Given the description of an element on the screen output the (x, y) to click on. 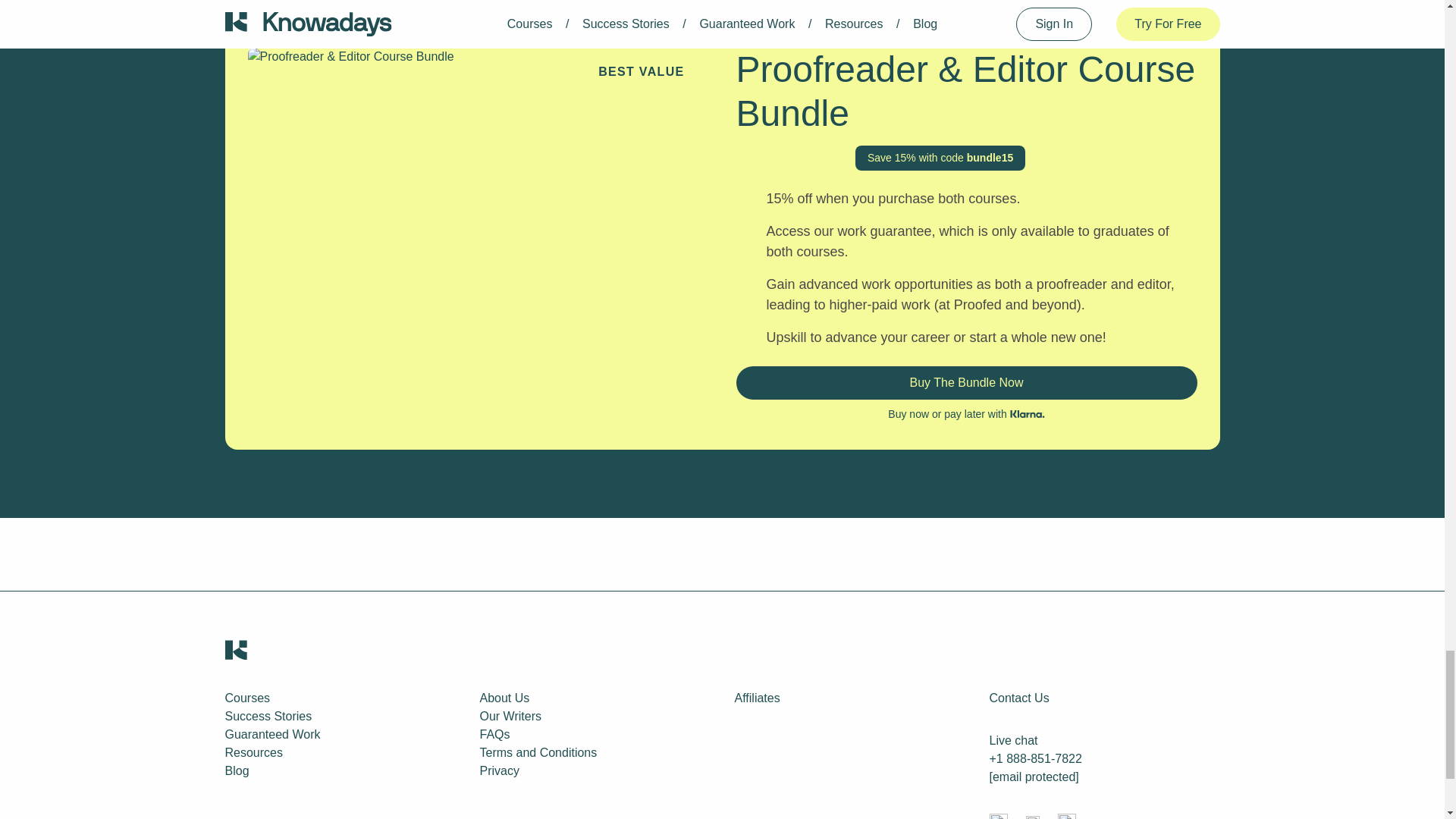
About Us (504, 697)
Buy The Bundle Now (965, 382)
Resources (253, 752)
Terms and Conditions (537, 752)
Privacy (498, 770)
Success Stories (267, 716)
Blog (236, 770)
Guaranteed Work (272, 734)
FAQs (494, 734)
Courses (246, 697)
Our Writers (509, 716)
